Given the description of an element on the screen output the (x, y) to click on. 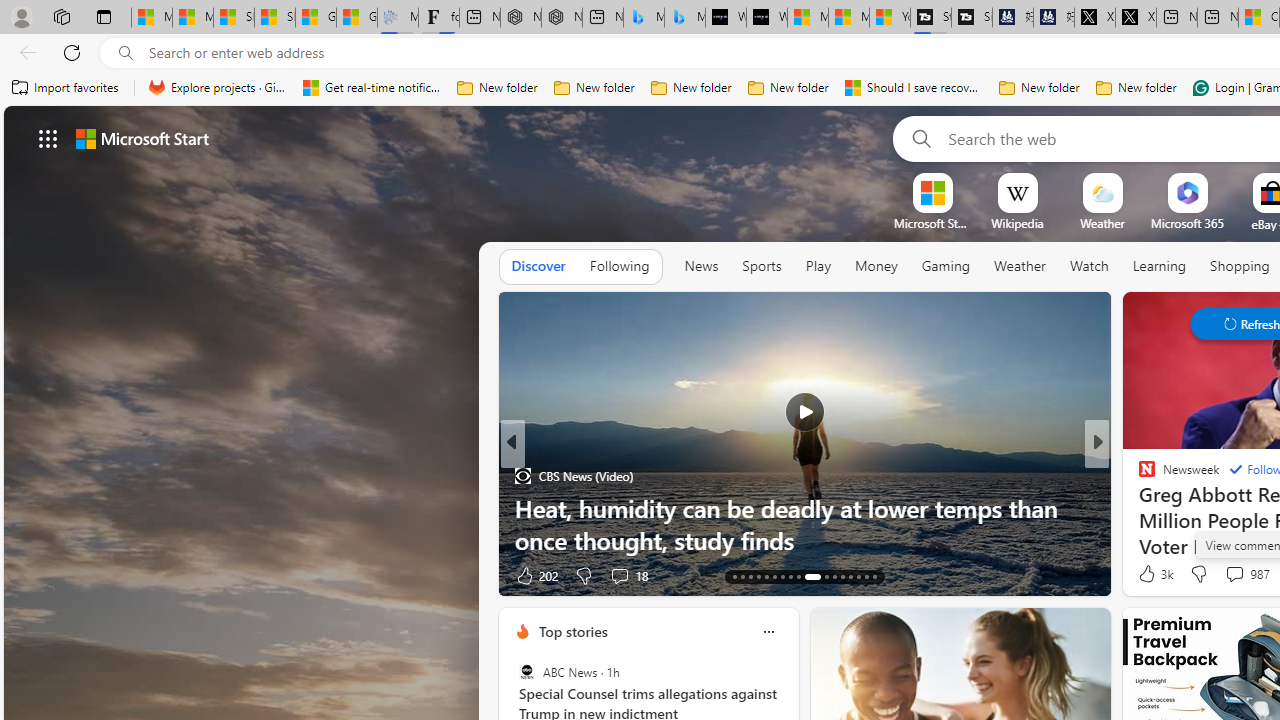
View comments 156 Comment (11, 575)
Microsoft start (142, 138)
Ad (1142, 575)
Search icon (125, 53)
The Independent (1138, 475)
Should I save recovered Word documents? - Microsoft Support (913, 88)
View comments 22 Comment (11, 575)
79 Like (1149, 574)
14 Like (1149, 574)
AutomationID: tab-20 (789, 576)
Shanghai, China weather forecast | Microsoft Weather (274, 17)
Nordace (1153, 475)
AutomationID: tab-21 (797, 576)
Ad Choice (479, 575)
